Given the description of an element on the screen output the (x, y) to click on. 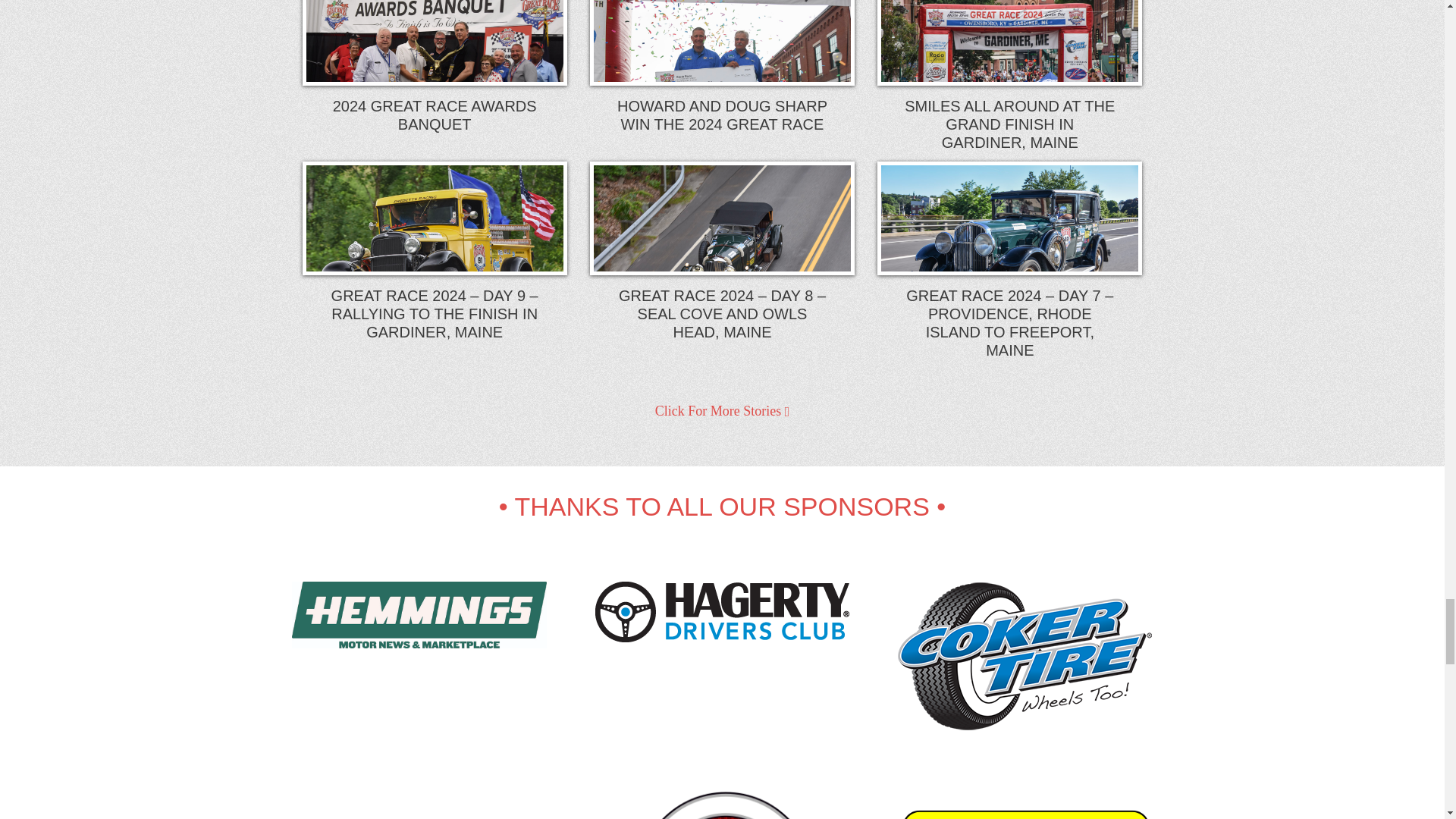
Smiles All Around at the Grand Finish in Gardiner, Maine (1009, 80)
2024 Great Race Awards Banquet (433, 80)
Howard and Doug Sharp Win the 2024 Great Race (721, 80)
